Given the description of an element on the screen output the (x, y) to click on. 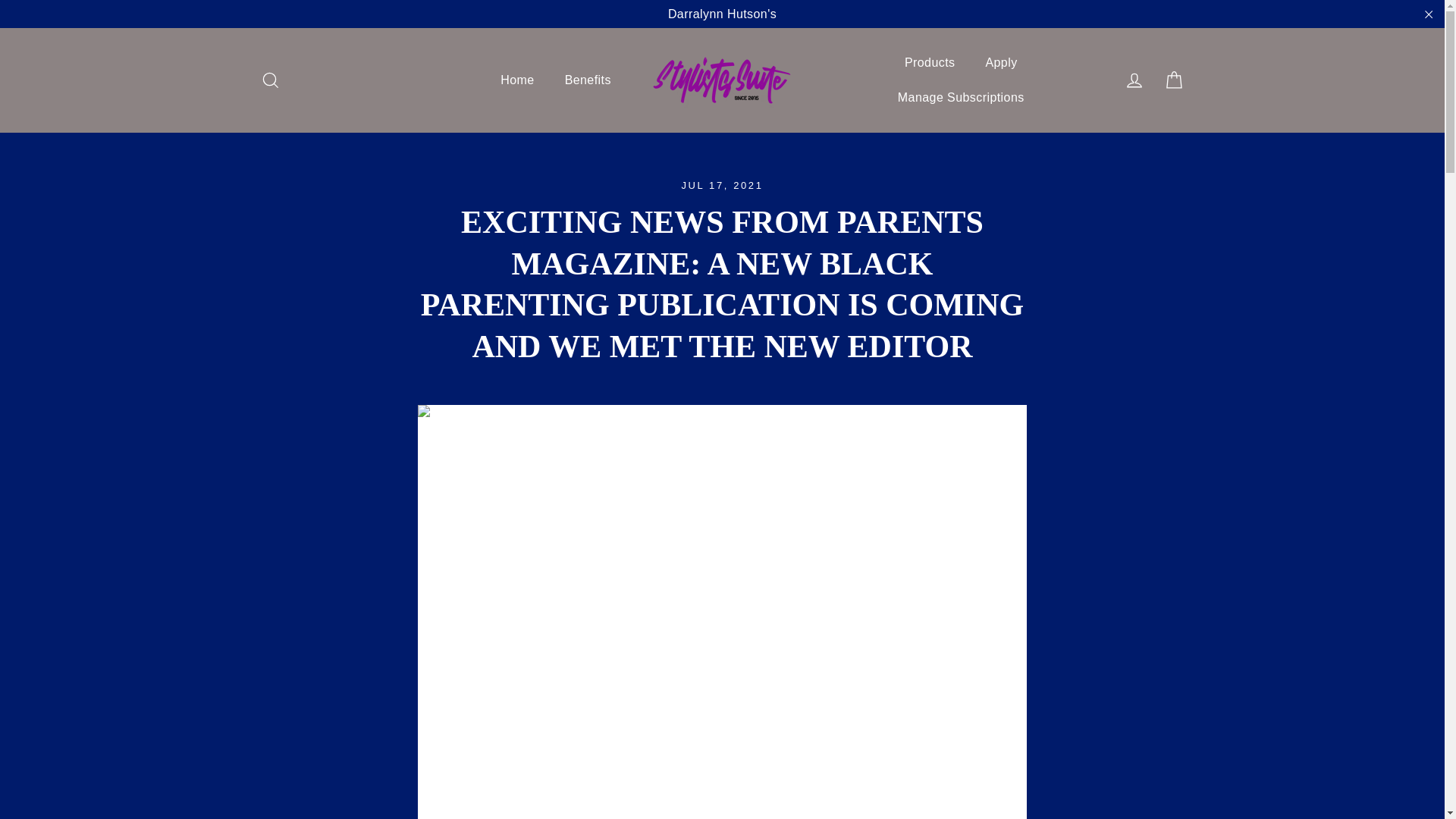
Manage Subscriptions (960, 97)
Benefits (588, 80)
Products (930, 62)
Search (269, 80)
Cart (1173, 80)
Apply (1000, 62)
Home (516, 80)
Log in (1134, 80)
